Given the description of an element on the screen output the (x, y) to click on. 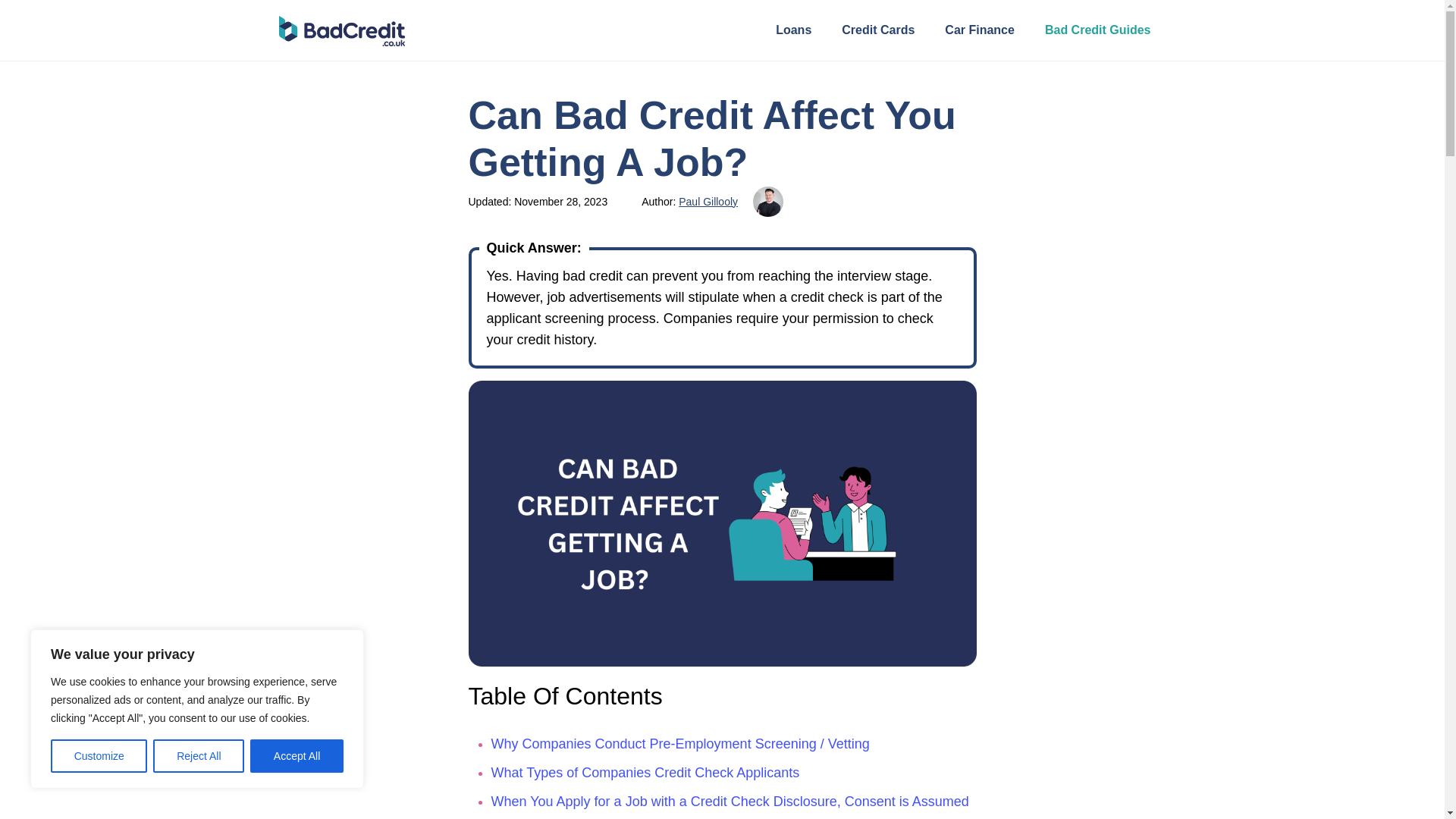
Customize (98, 756)
Credit Cards (877, 29)
Posts by Paul Gillooly (708, 201)
Accept All (296, 756)
Car Finance (979, 29)
Bad Credit Guides (1098, 29)
Loans (793, 29)
Reject All (198, 756)
Paul Gillooly (708, 201)
